Given the description of an element on the screen output the (x, y) to click on. 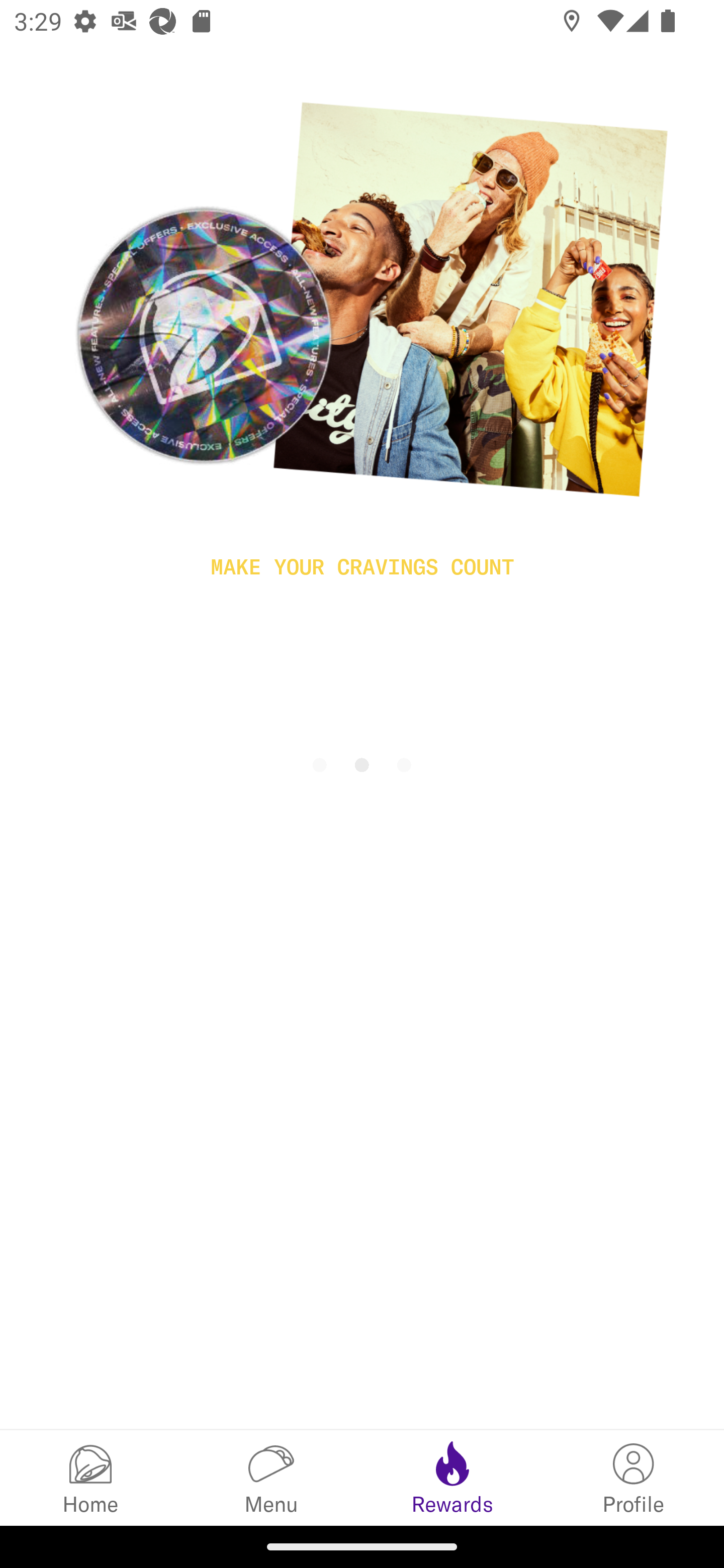
Home (90, 1476)
Menu (271, 1476)
Rewards (452, 1476)
My Info Profile (633, 1476)
